Given the description of an element on the screen output the (x, y) to click on. 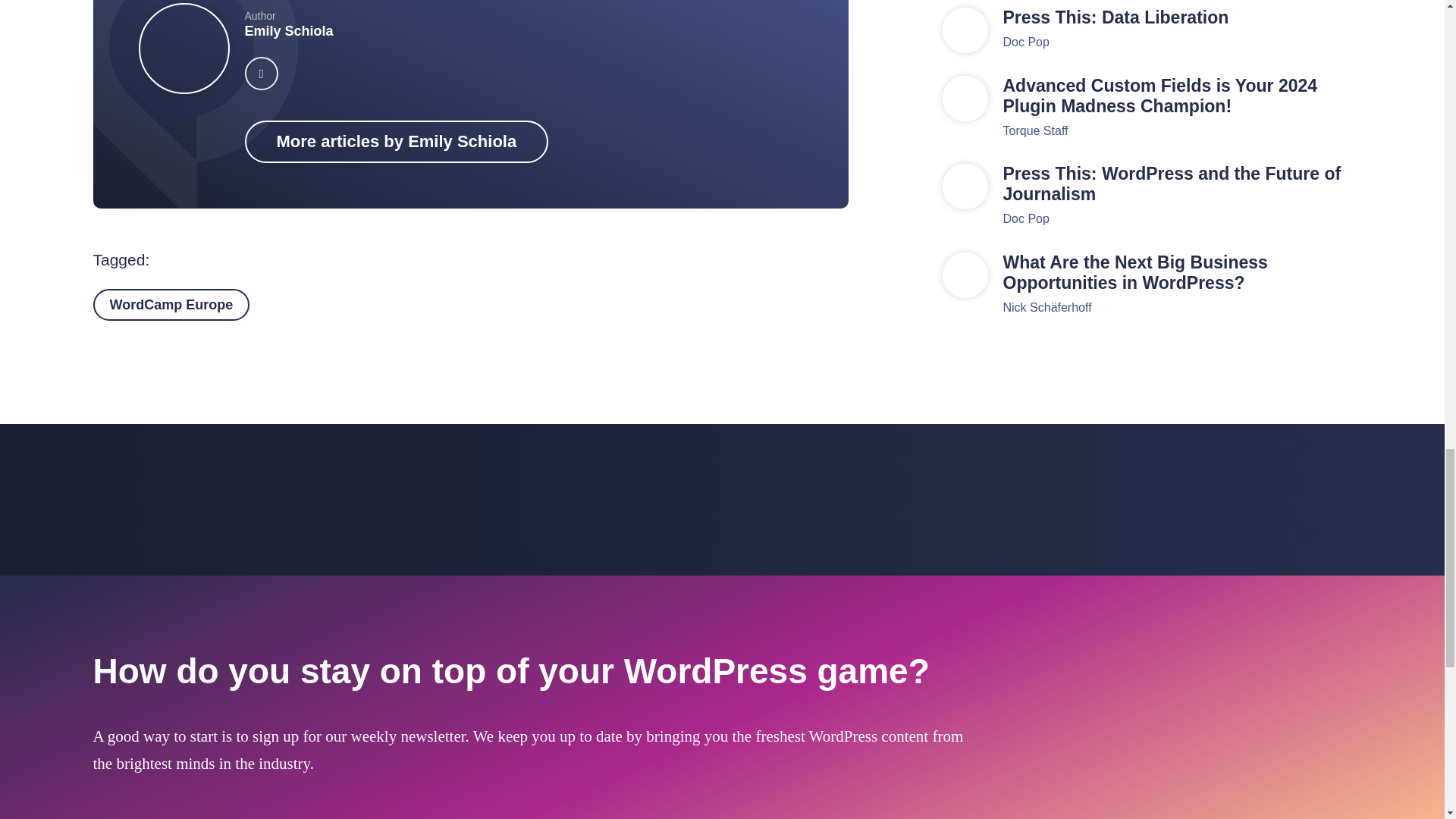
Emily Schiola (288, 30)
More articles by Emily Schiola (396, 141)
WordCamp Europe (170, 305)
